Given the description of an element on the screen output the (x, y) to click on. 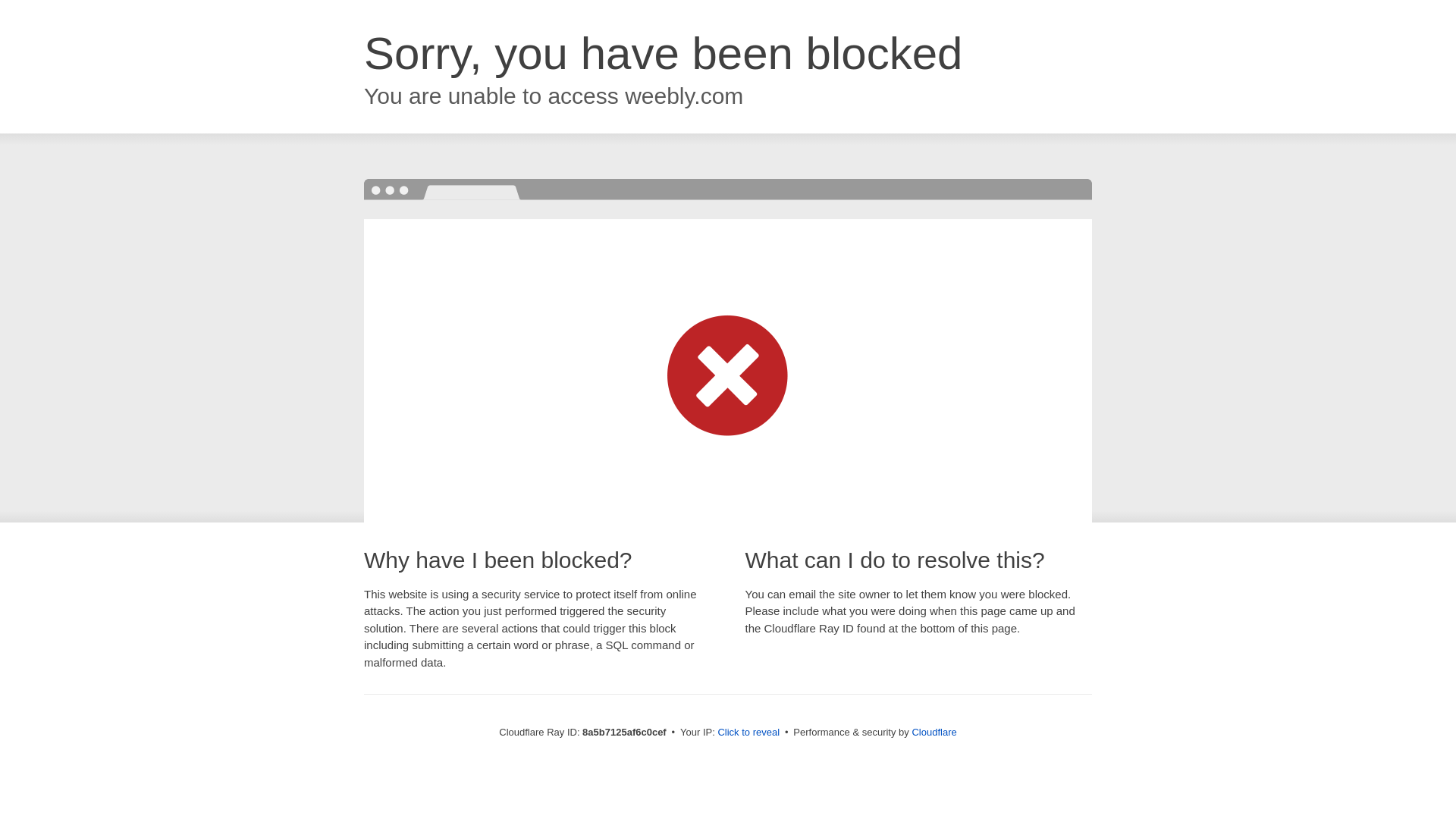
Click to reveal (747, 732)
Cloudflare (933, 731)
